Given the description of an element on the screen output the (x, y) to click on. 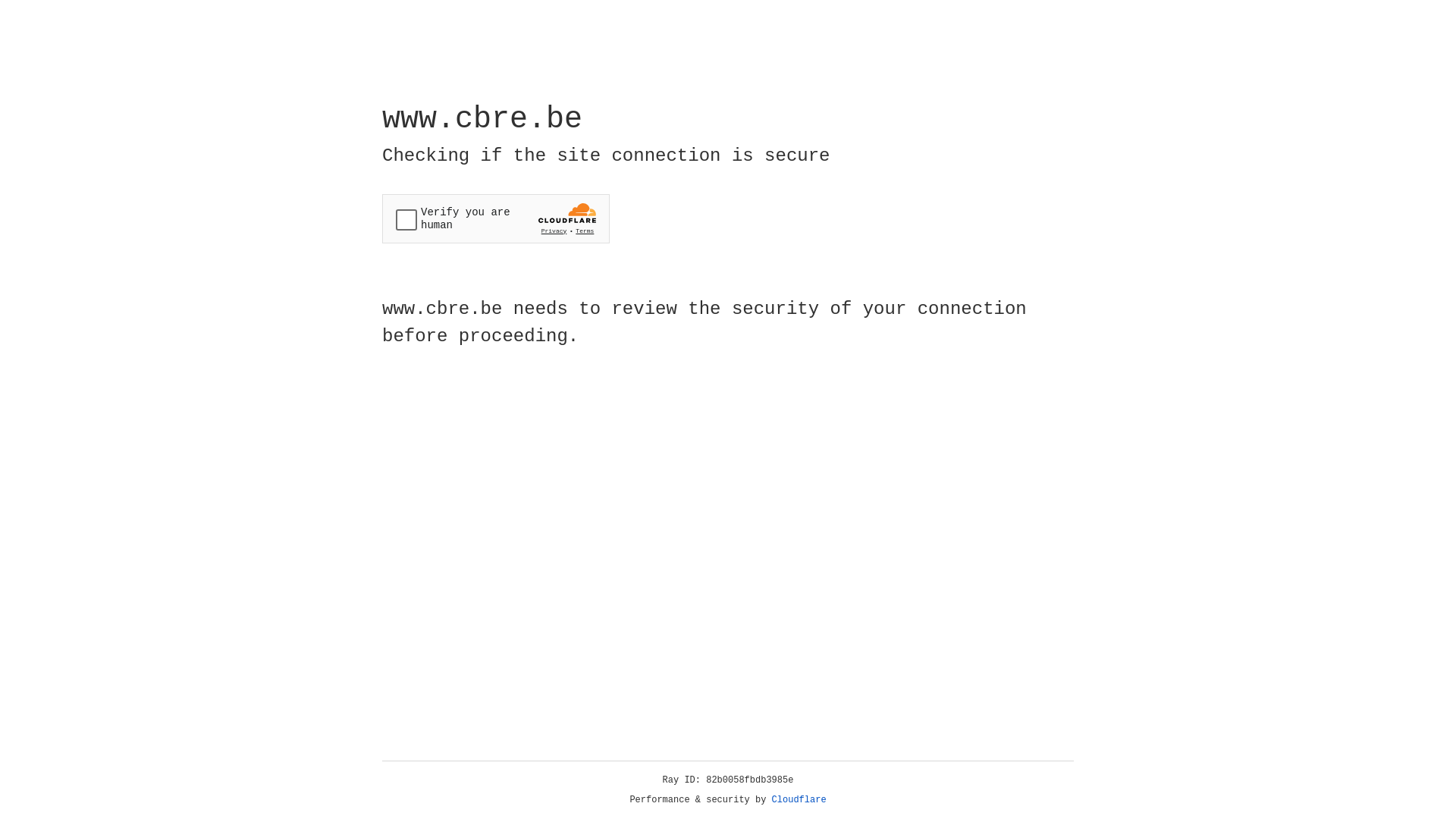
Cloudflare Element type: text (798, 799)
Widget containing a Cloudflare security challenge Element type: hover (495, 218)
